Given the description of an element on the screen output the (x, y) to click on. 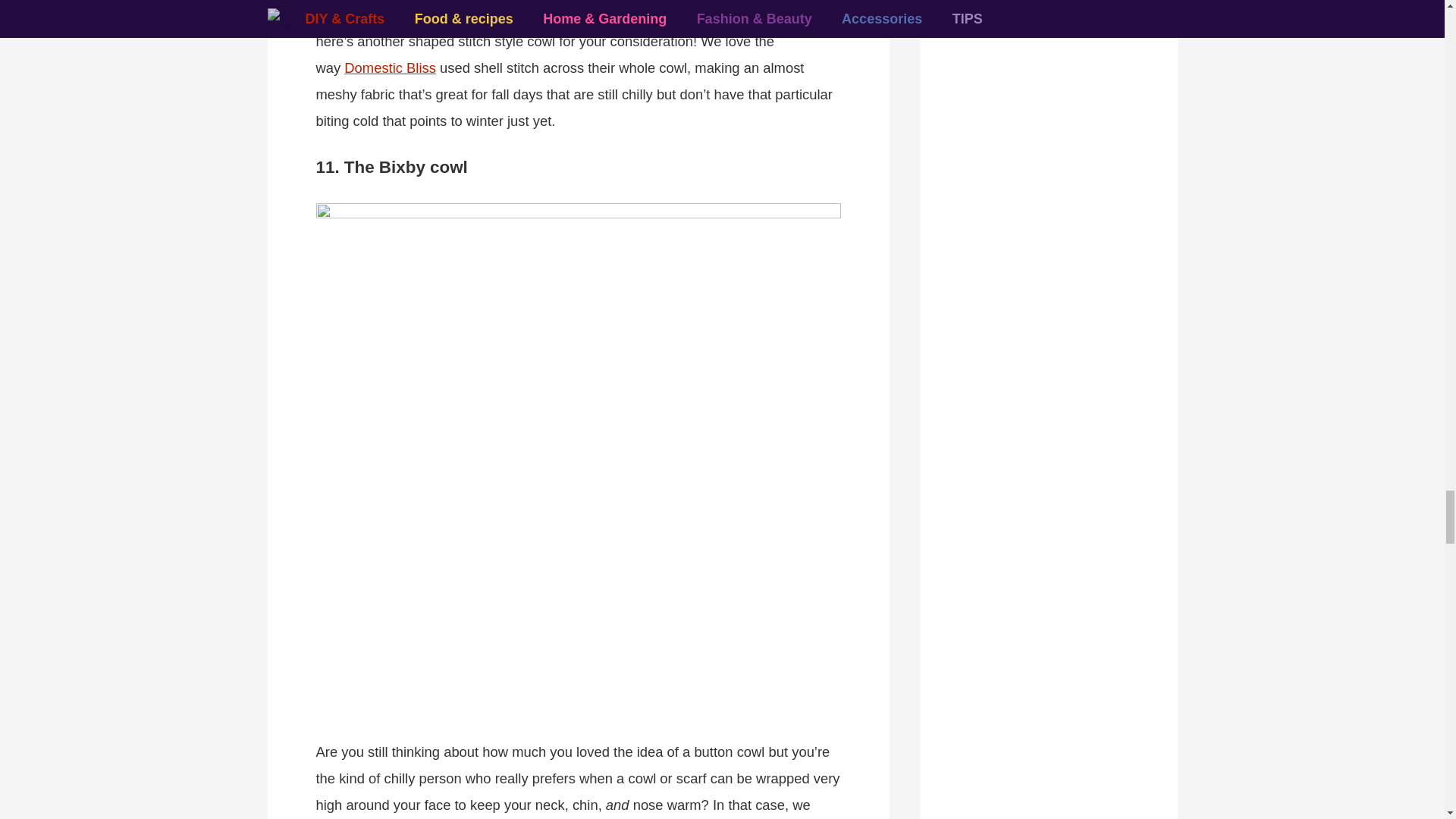
Domestic Bliss (389, 67)
